Given the description of an element on the screen output the (x, y) to click on. 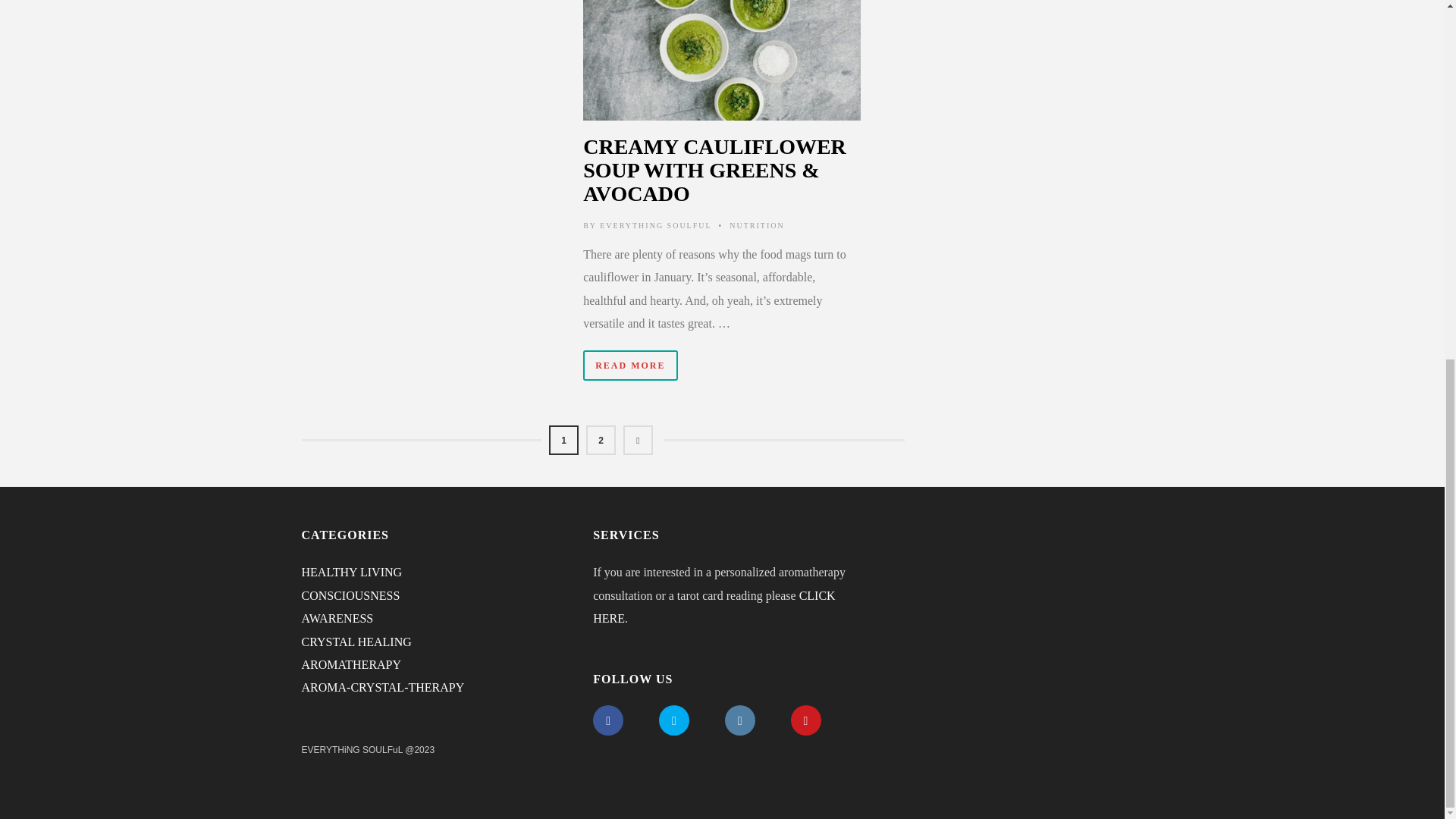
CLICK HERE (713, 606)
View all posts filed under CONSCIOUSNESS (350, 594)
View all posts filed under AWARENESS (337, 617)
AROMA-CRYSTAL-THERAPY (382, 686)
AWARENESS (337, 617)
8 YEARS AGO (721, 60)
AROMATHERAPY (351, 664)
HEALTHY LIVING (352, 571)
2 (600, 440)
View all posts filed under HEALTHY LIVING (352, 571)
CONSCIOUSNESS (350, 594)
NUTRITION (756, 225)
READ MORE (630, 365)
View all posts filed under CRYSTAL HEALING (356, 641)
Posts by EVERYTHiNG SOULFuL (655, 225)
